Given the description of an element on the screen output the (x, y) to click on. 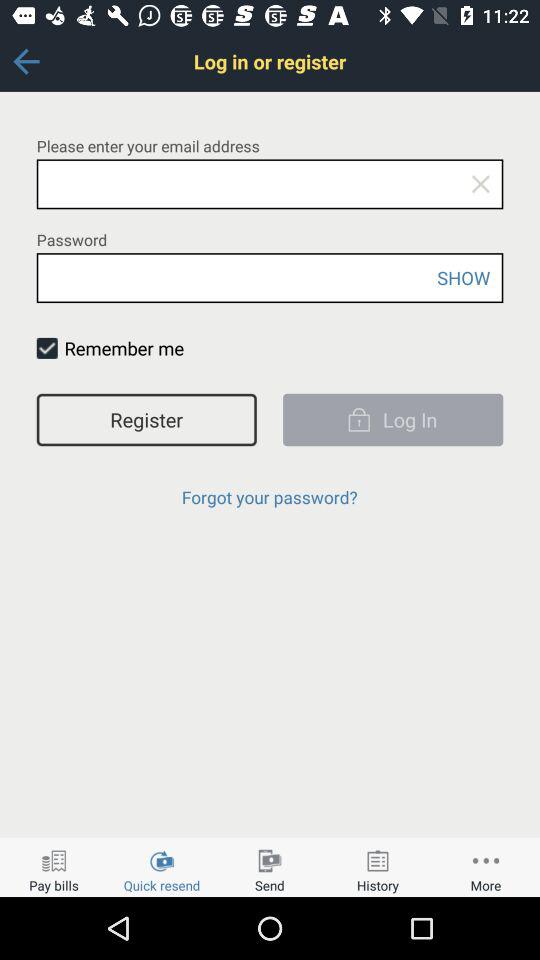
insert email (269, 184)
